Given the description of an element on the screen output the (x, y) to click on. 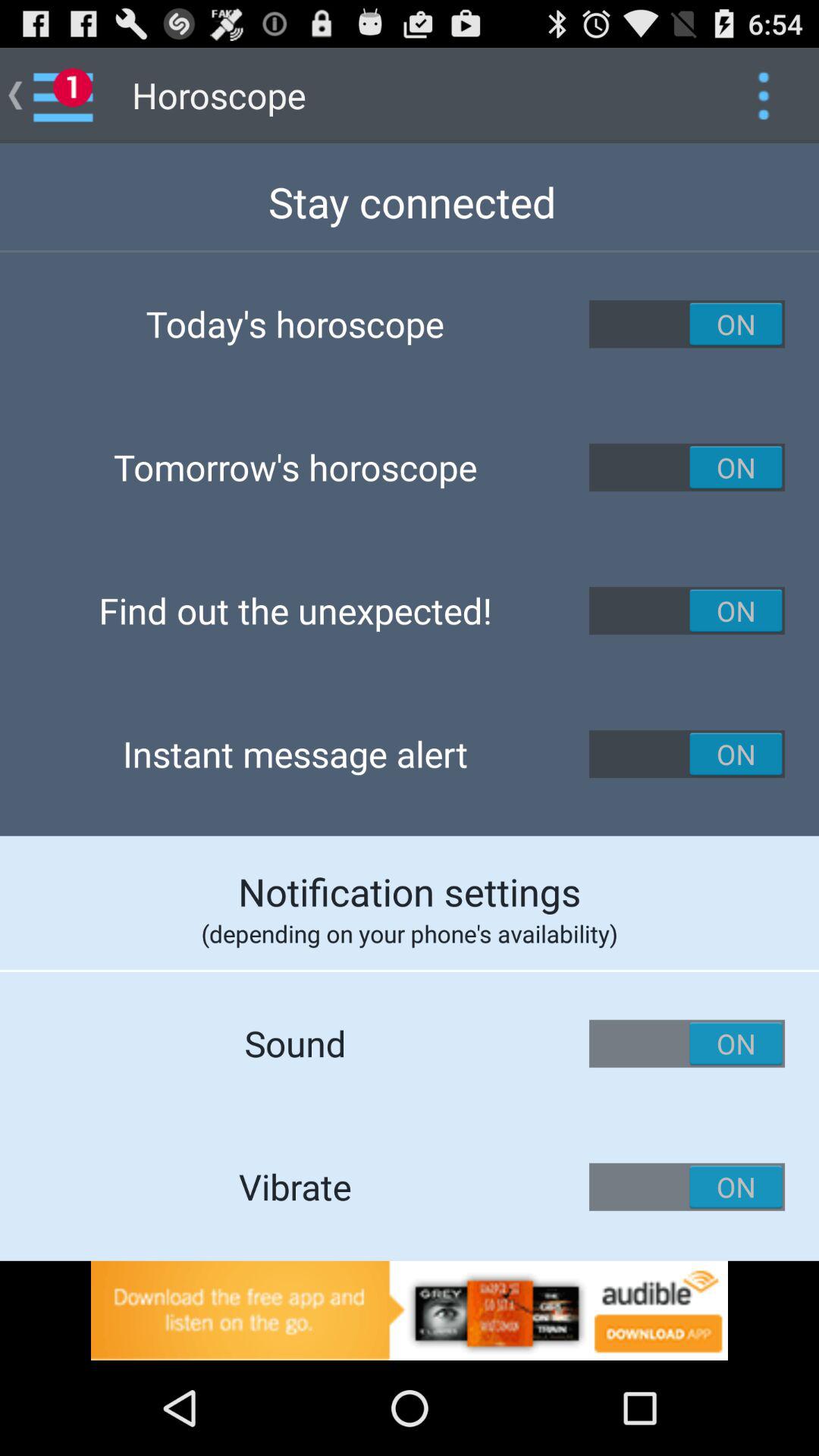
switch on off option (686, 324)
